Given the description of an element on the screen output the (x, y) to click on. 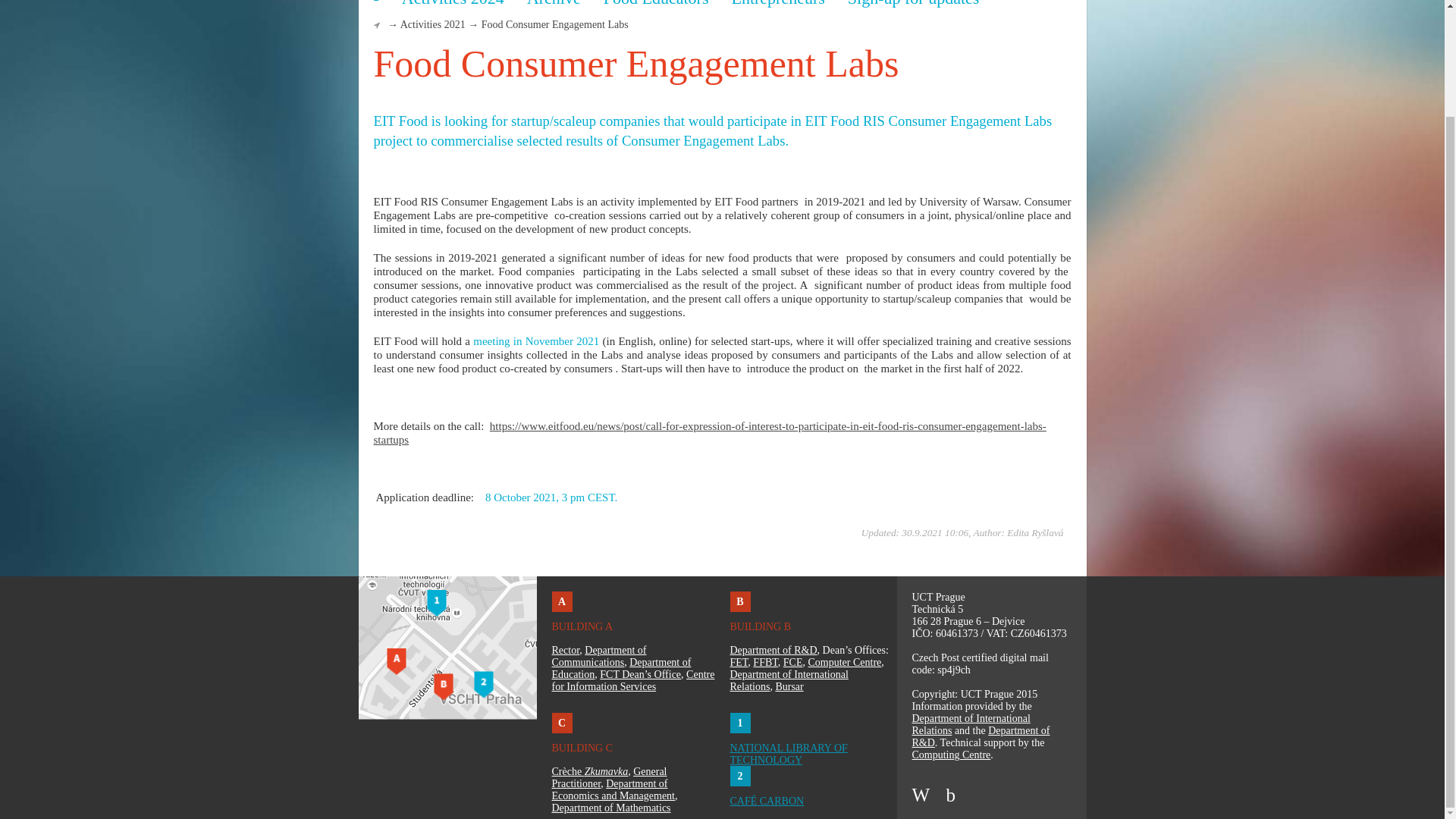
Sign-up for updates (913, 4)
Archive (553, 4)
Food Educators (656, 4)
Activities 2021 (432, 24)
Rector (565, 650)
Activities 2024 (452, 4)
Entrepreneurs (777, 4)
